Given the description of an element on the screen output the (x, y) to click on. 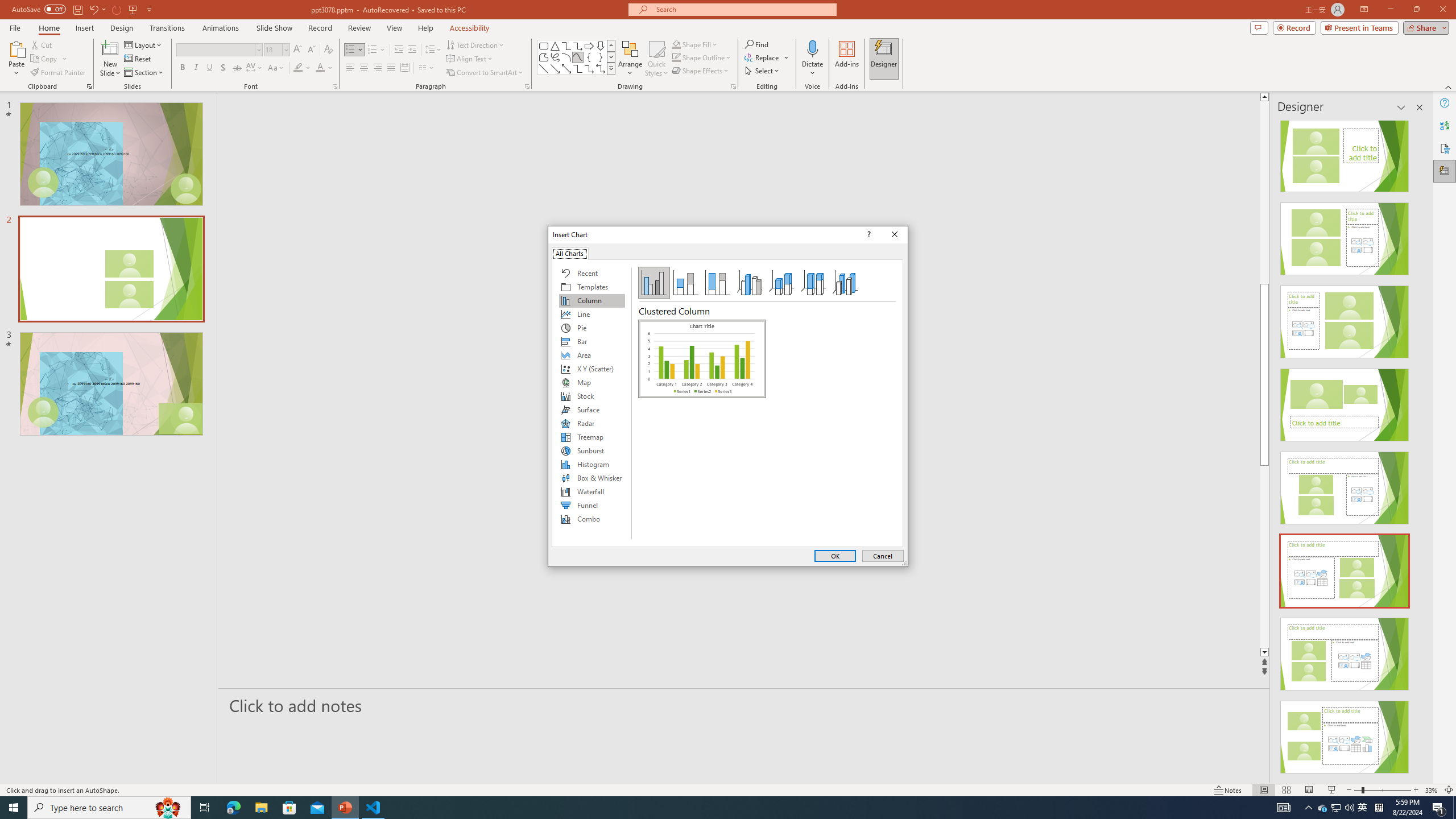
Waterfall (591, 491)
Class: NetUIGalleryContainer (701, 429)
Sunburst (591, 450)
